Given the description of an element on the screen output the (x, y) to click on. 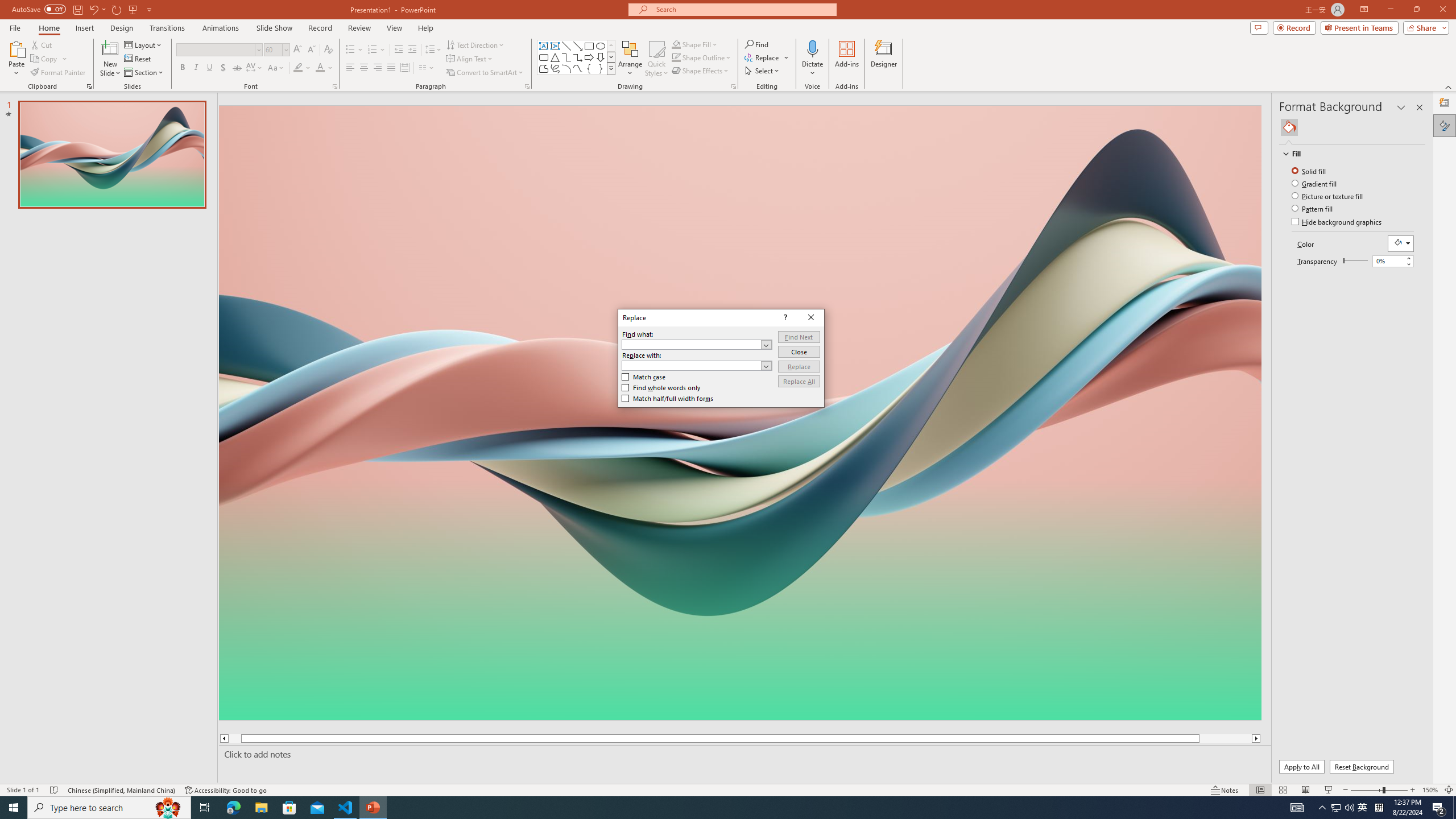
Zoom 150% (1430, 790)
Hide background graphics (1337, 222)
